Given the description of an element on the screen output the (x, y) to click on. 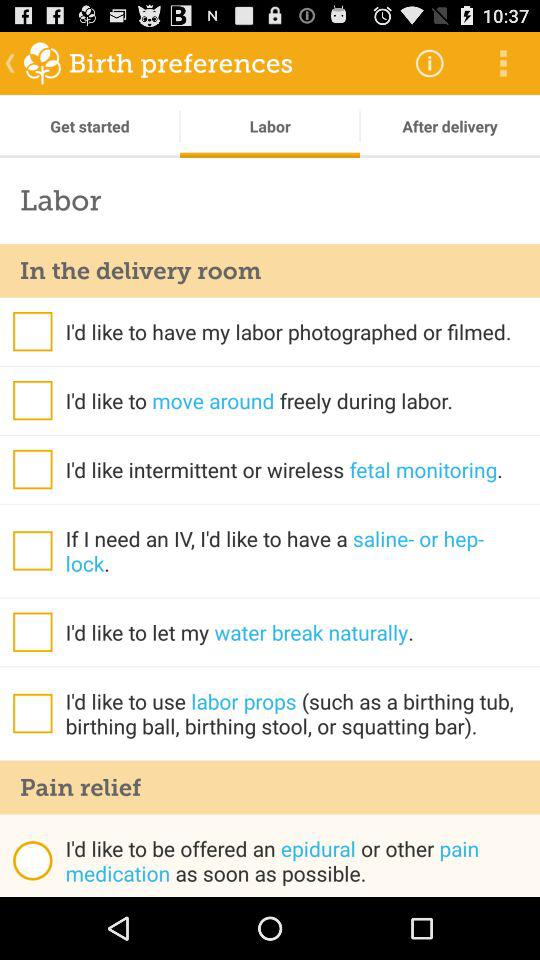
option selection bar (32, 331)
